Given the description of an element on the screen output the (x, y) to click on. 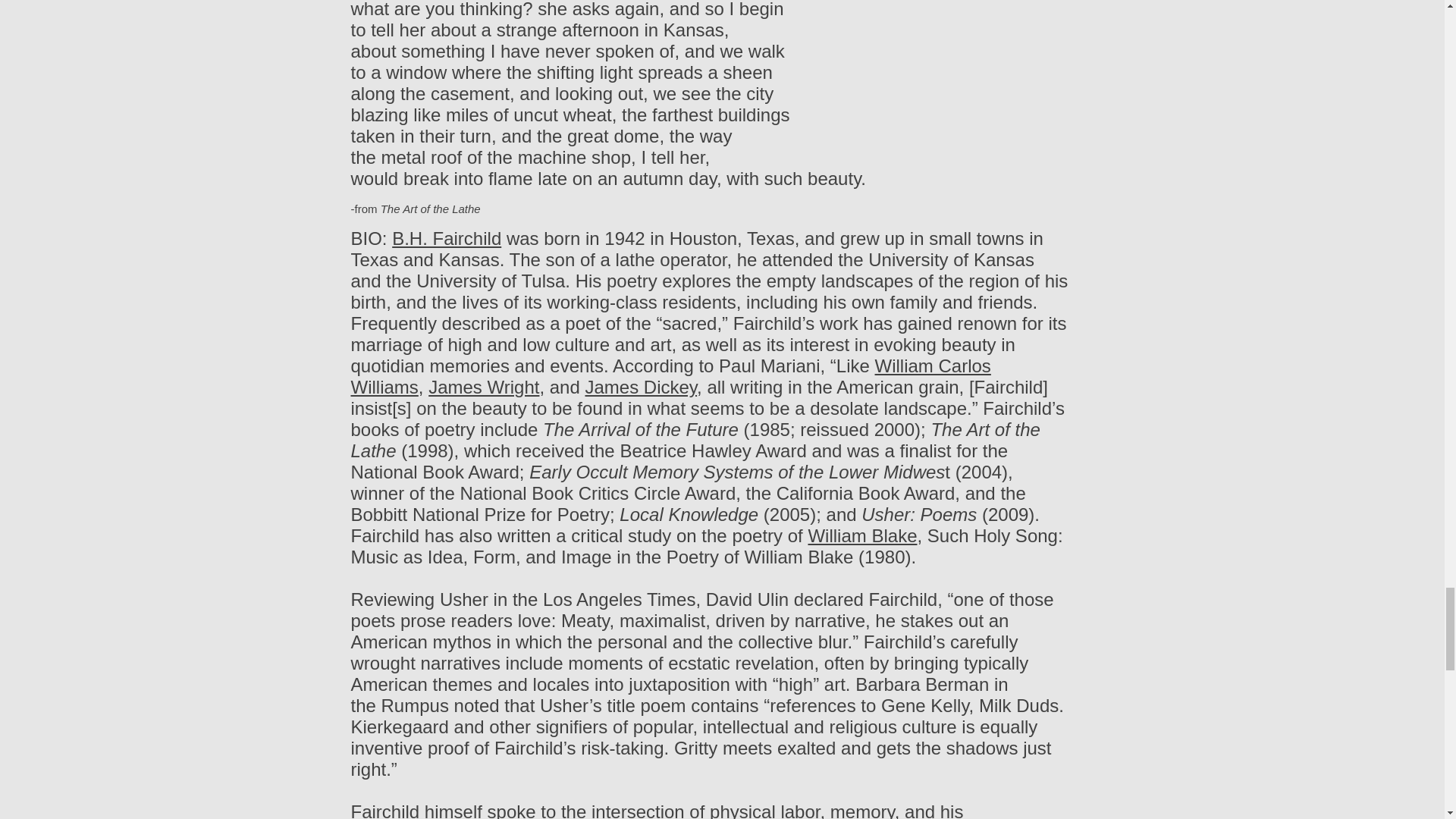
James Wright (483, 386)
James Dickey (641, 386)
William Carlos Williams (670, 376)
William Blake (862, 535)
B.H. Fairchild (445, 238)
